Given the description of an element on the screen output the (x, y) to click on. 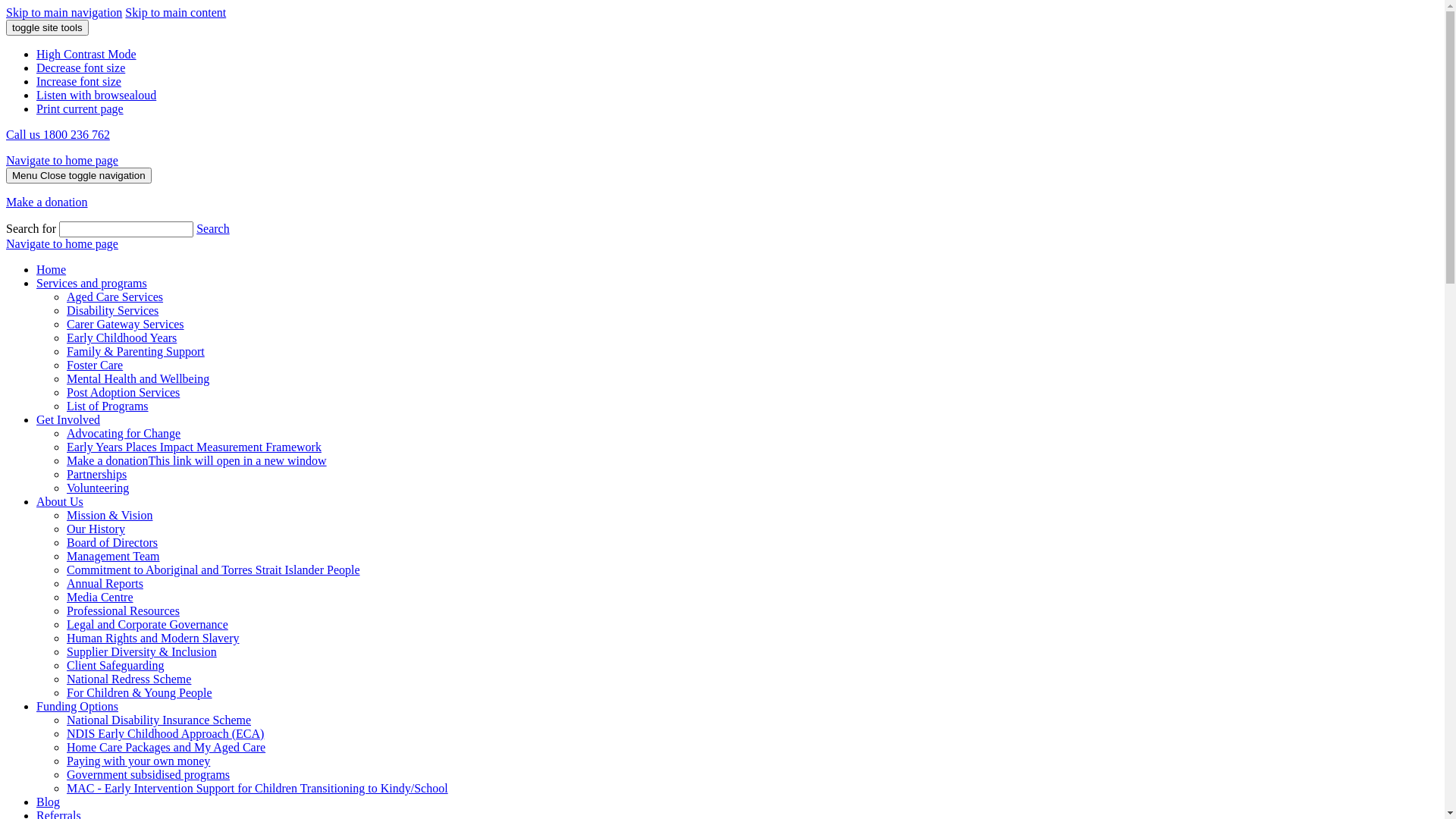
High Contrast Mode Element type: text (86, 53)
Post Adoption Services Element type: text (122, 391)
Home Care Packages and My Aged Care Element type: text (165, 746)
Government subsidised programs Element type: text (147, 774)
NDIS Early Childhood Approach (ECA) Element type: text (164, 733)
Human Rights and Modern Slavery Element type: text (152, 637)
Make a donation Element type: text (46, 201)
Get Involved Element type: text (68, 419)
Media Centre Element type: text (99, 596)
Call us 1800 236 762 Element type: text (57, 134)
Annual Reports Element type: text (104, 583)
List of Programs Element type: text (107, 405)
Skip to main navigation Element type: text (64, 12)
Paying with your own money Element type: text (138, 760)
Listen with browsealoud Element type: text (96, 94)
Client Safeguarding Element type: text (114, 664)
Foster Care Element type: text (94, 364)
Funding Options Element type: text (77, 705)
Management Team Element type: text (113, 555)
Family & Parenting Support Element type: text (135, 351)
Decrease font size Element type: text (80, 67)
Home Element type: text (50, 269)
Our History Element type: text (95, 528)
Partnerships Element type: text (96, 473)
Mental Health and Wellbeing Element type: text (137, 378)
Aged Care Services Element type: text (114, 296)
For Children & Young People Element type: text (139, 692)
Professional Resources Element type: text (122, 610)
Search Element type: hover (126, 229)
Services and programs Element type: text (91, 282)
Early Years Places Impact Measurement Framework Element type: text (193, 446)
toggle site tools Element type: text (47, 27)
Board of Directors Element type: text (111, 542)
Early Childhood Years Element type: text (121, 337)
Blog Element type: text (47, 801)
Advocating for Change Element type: text (123, 432)
Print current page Element type: text (79, 108)
Supplier Diversity & Inclusion Element type: text (141, 651)
Search Element type: text (212, 228)
Carer Gateway Services Element type: text (125, 323)
Mission & Vision Element type: text (109, 514)
Commitment to Aboriginal and Torres Strait Islander People Element type: text (213, 569)
Make a donationThis link will open in a new window Element type: text (196, 460)
Disability Services Element type: text (112, 310)
Navigate to home page Element type: text (62, 159)
Legal and Corporate Governance Element type: text (147, 624)
National Redress Scheme Element type: text (128, 678)
National Disability Insurance Scheme Element type: text (158, 719)
Navigate to home page Element type: text (62, 243)
Menu Close toggle navigation Element type: text (78, 175)
Skip to main content Element type: text (175, 12)
Increase font size Element type: text (78, 81)
Volunteering Element type: text (97, 487)
About Us Element type: text (59, 501)
